Given the description of an element on the screen output the (x, y) to click on. 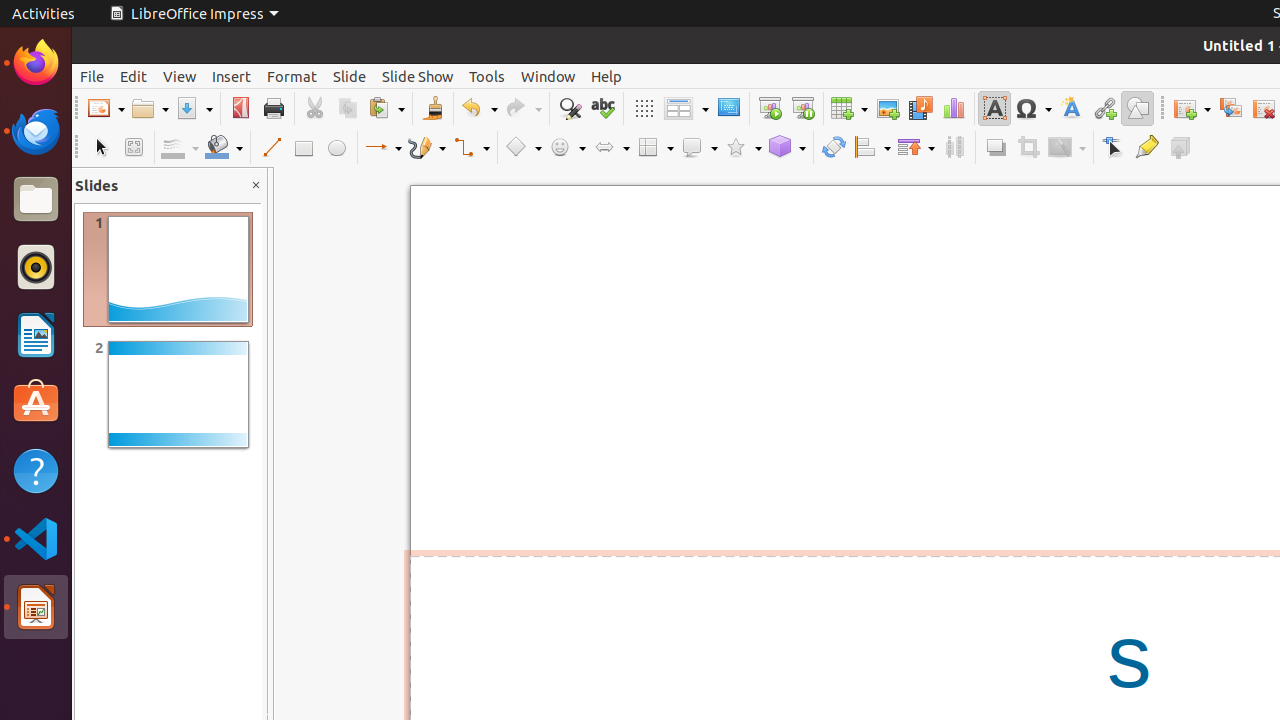
Table Element type: push-button (849, 108)
Lines and Arrows Element type: push-button (383, 147)
Glue Points Element type: push-button (1146, 147)
Symbol Shapes Element type: push-button (567, 147)
